Given the description of an element on the screen output the (x, y) to click on. 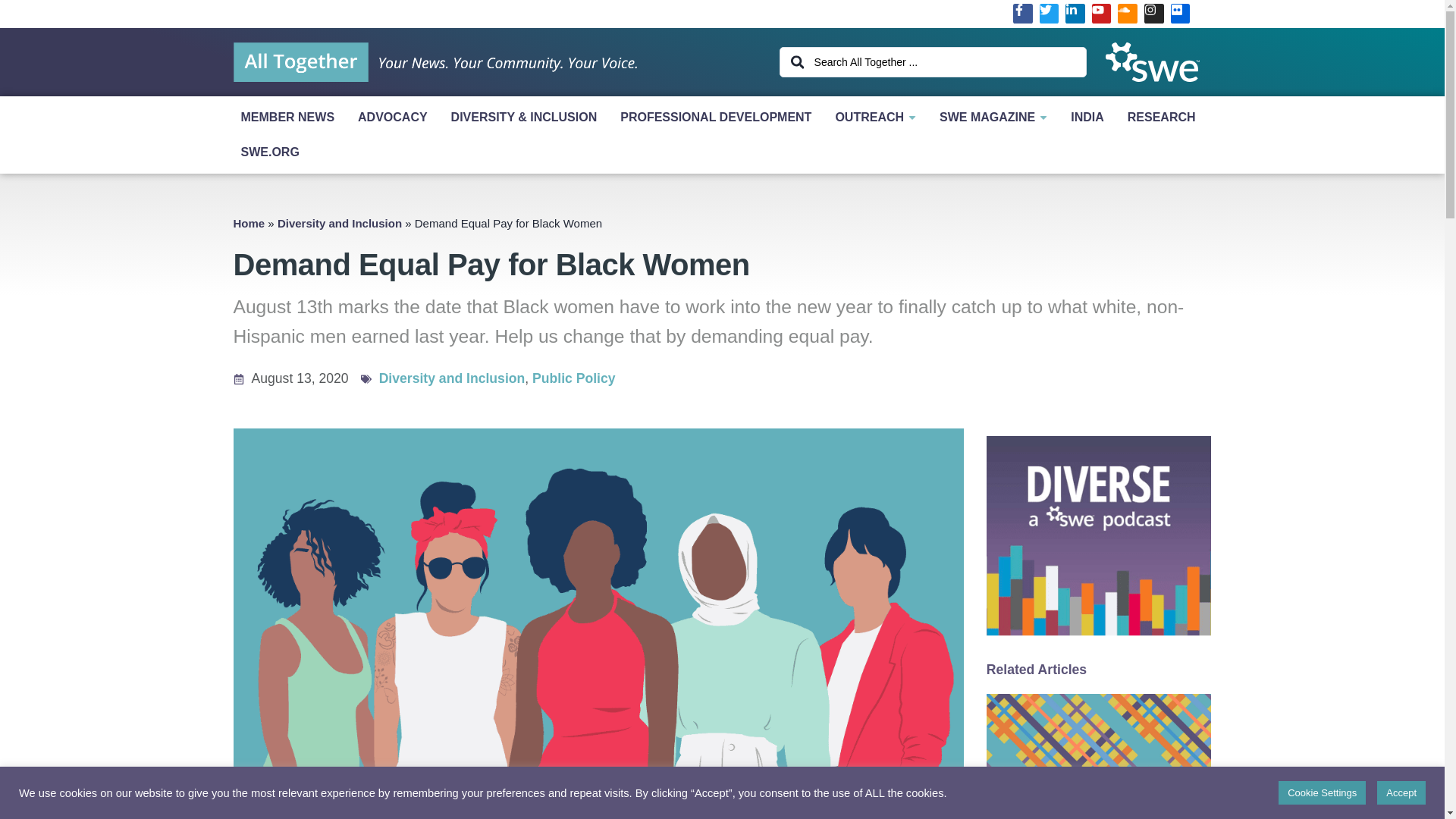
SWE MAGAZINE (996, 117)
PROFESSIONAL DEVELOPMENT (719, 117)
OUTREACH (879, 117)
SWE.ORG (721, 152)
INDIA (1090, 117)
ADVOCACY (397, 117)
RESEARCH (1165, 117)
MEMBER NEWS (291, 117)
